Given the description of an element on the screen output the (x, y) to click on. 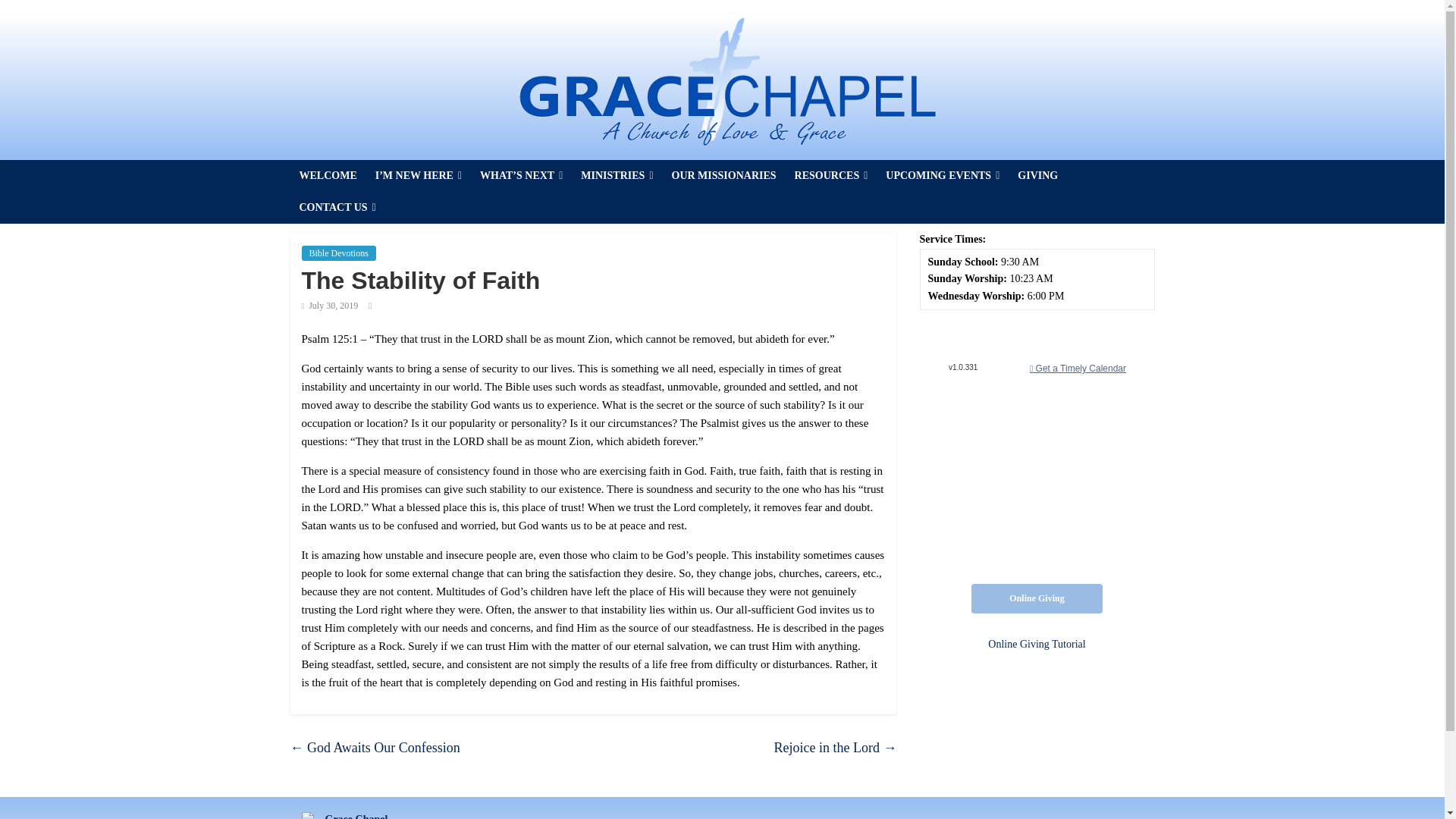
timely-iframe-embed-0 (1036, 446)
CONTACT US (336, 207)
OUR MISSIONARIES (724, 175)
Bible Devotions (338, 253)
MINISTRIES (617, 175)
RESOURCES (831, 175)
UPCOMING EVENTS (942, 175)
WELCOME (327, 175)
GIVING (1038, 175)
8:32 pm (329, 305)
